Given the description of an element on the screen output the (x, y) to click on. 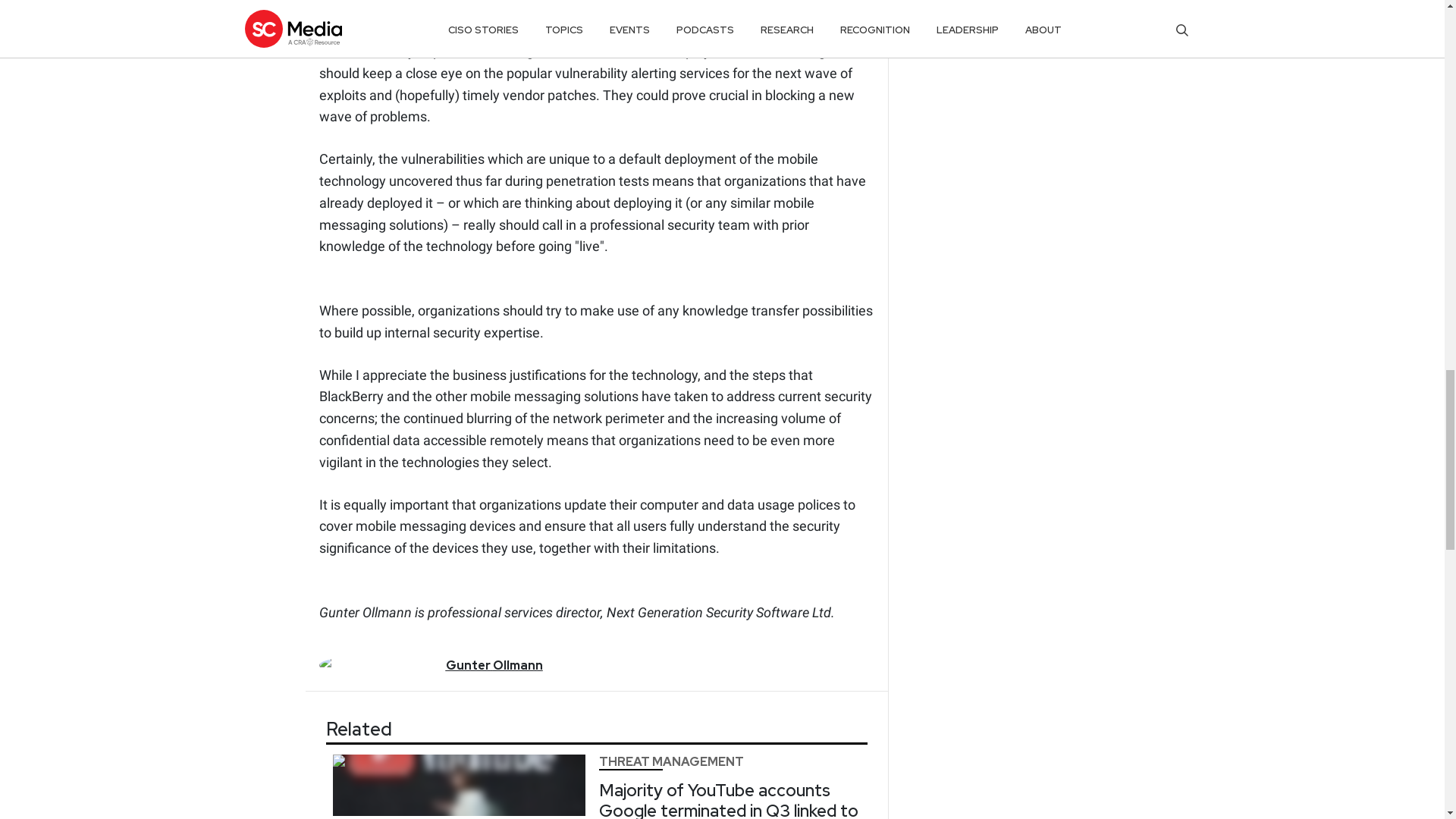
THREAT MANAGEMENT (671, 761)
Gunter Ollmann (494, 665)
